Given the description of an element on the screen output the (x, y) to click on. 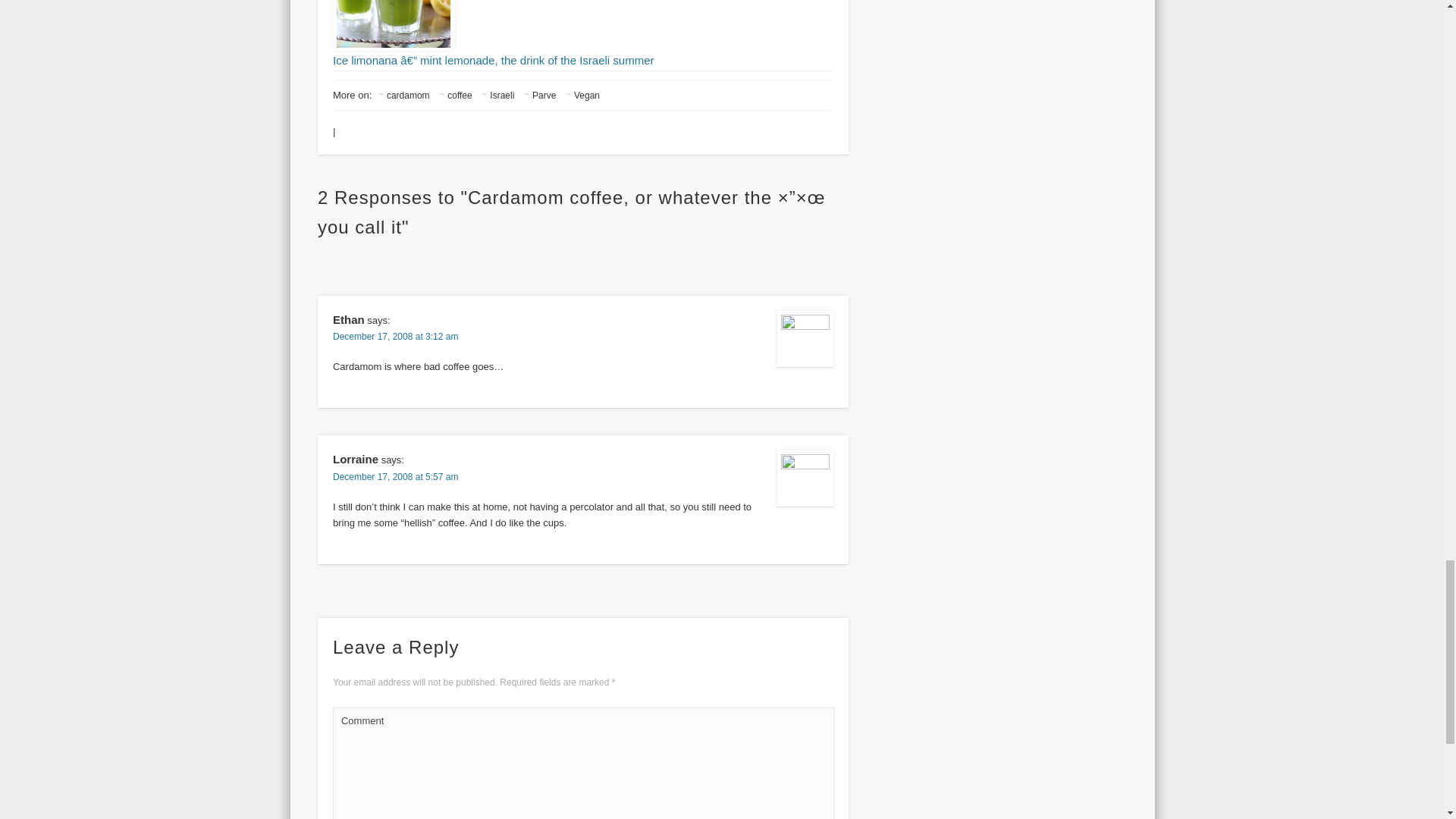
Vegan (582, 95)
coffee (454, 95)
cardamom (403, 95)
Parve (539, 95)
Israeli (496, 95)
